Given the description of an element on the screen output the (x, y) to click on. 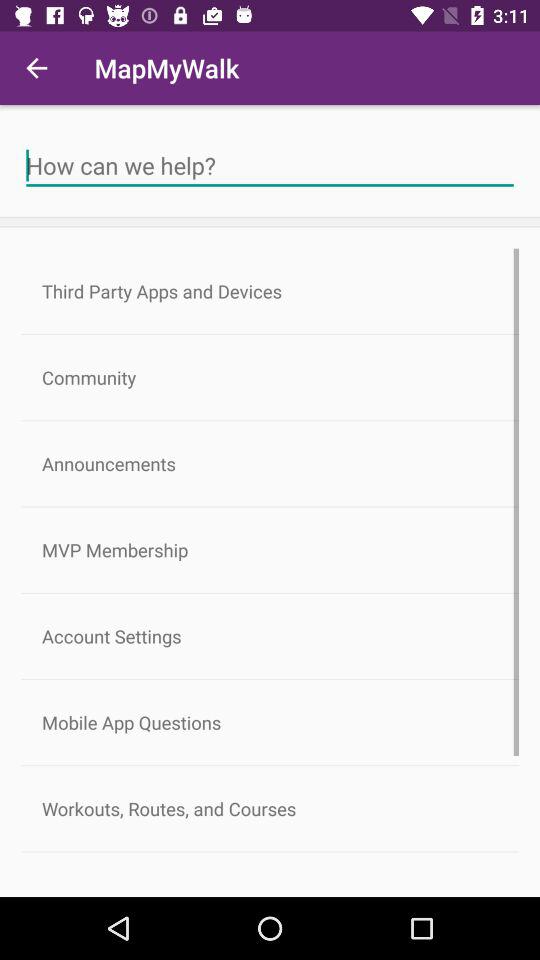
turn off the item below community (269, 463)
